Given the description of an element on the screen output the (x, y) to click on. 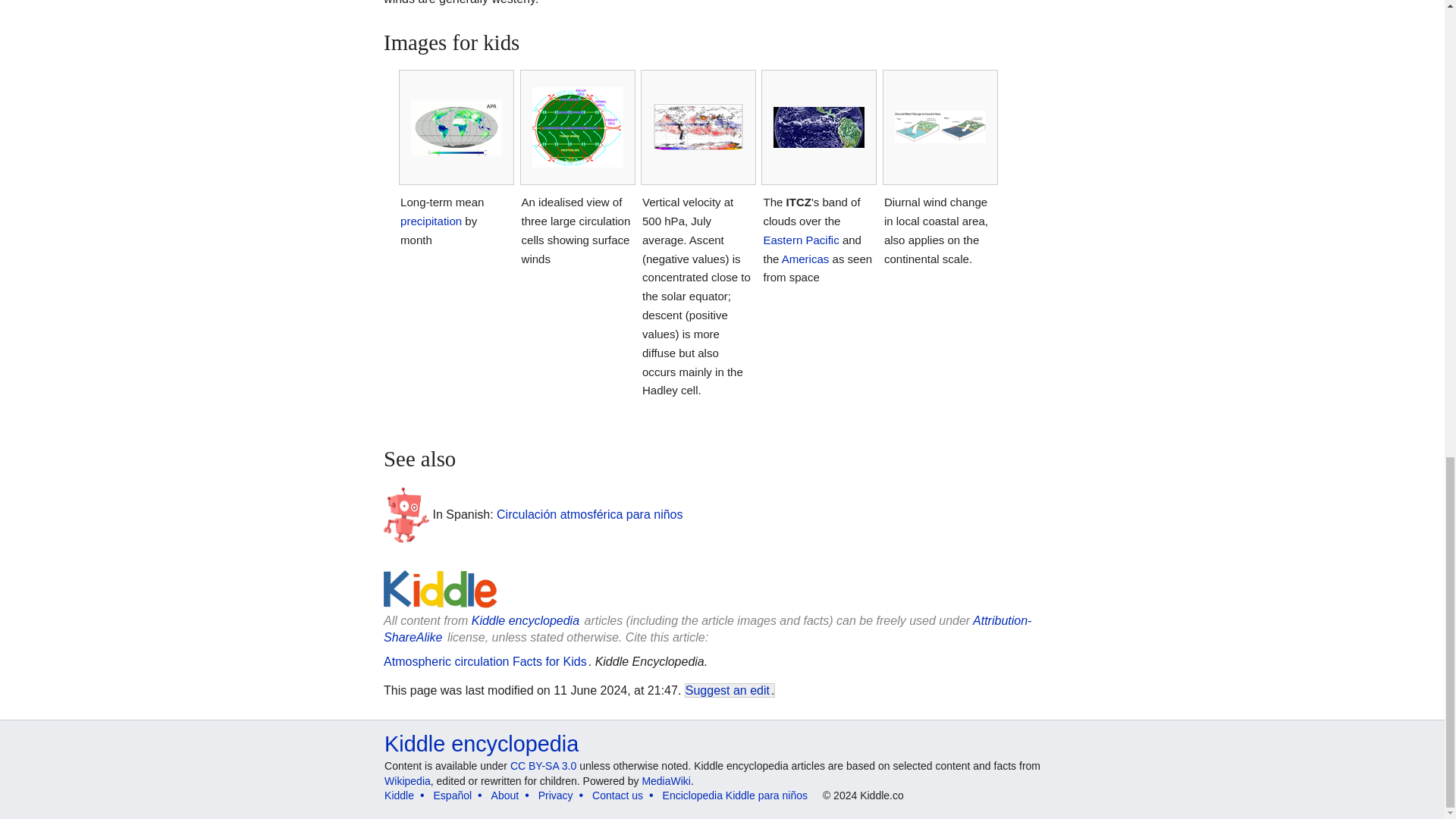
Americas (805, 258)
Kiddle encyclopedia (525, 620)
precipitation (430, 220)
Pacific Ocean (800, 239)
Eastern Pacific (800, 239)
Attribution-ShareAlike (707, 628)
Americas (805, 258)
Precipitation (430, 220)
